Given the description of an element on the screen output the (x, y) to click on. 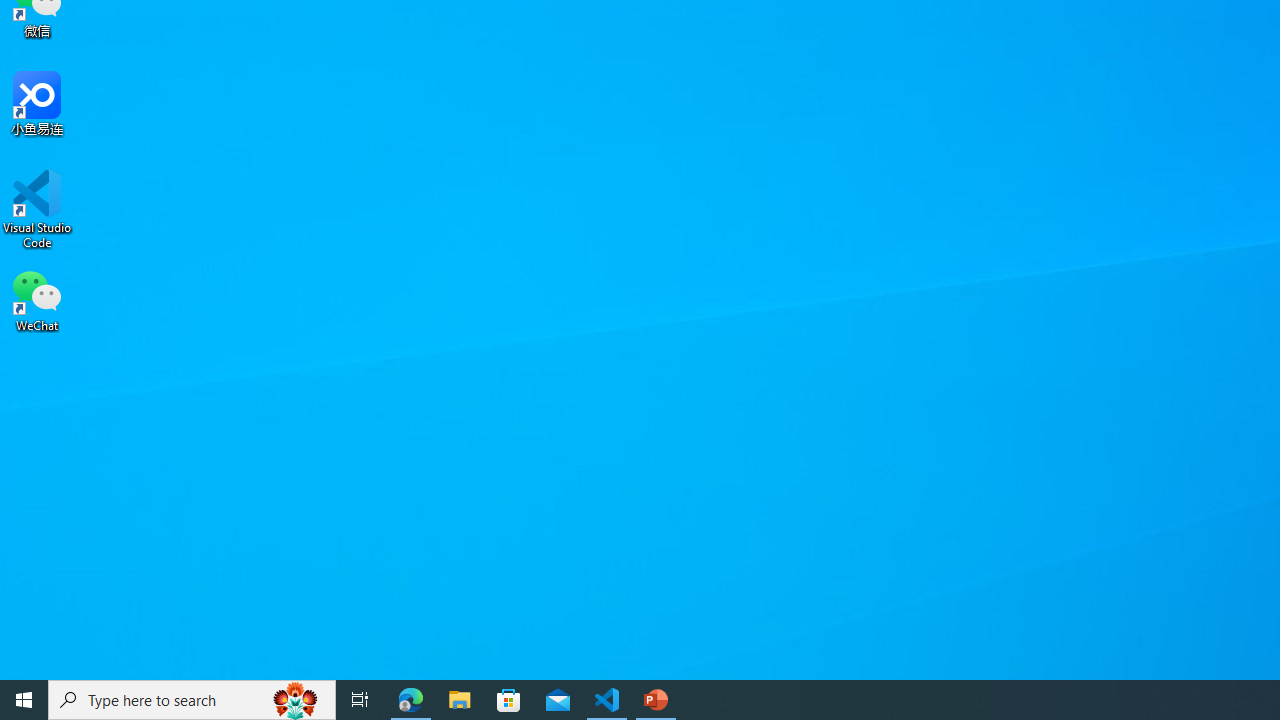
Visual Studio Code (37, 209)
WeChat (37, 299)
